Given the description of an element on the screen output the (x, y) to click on. 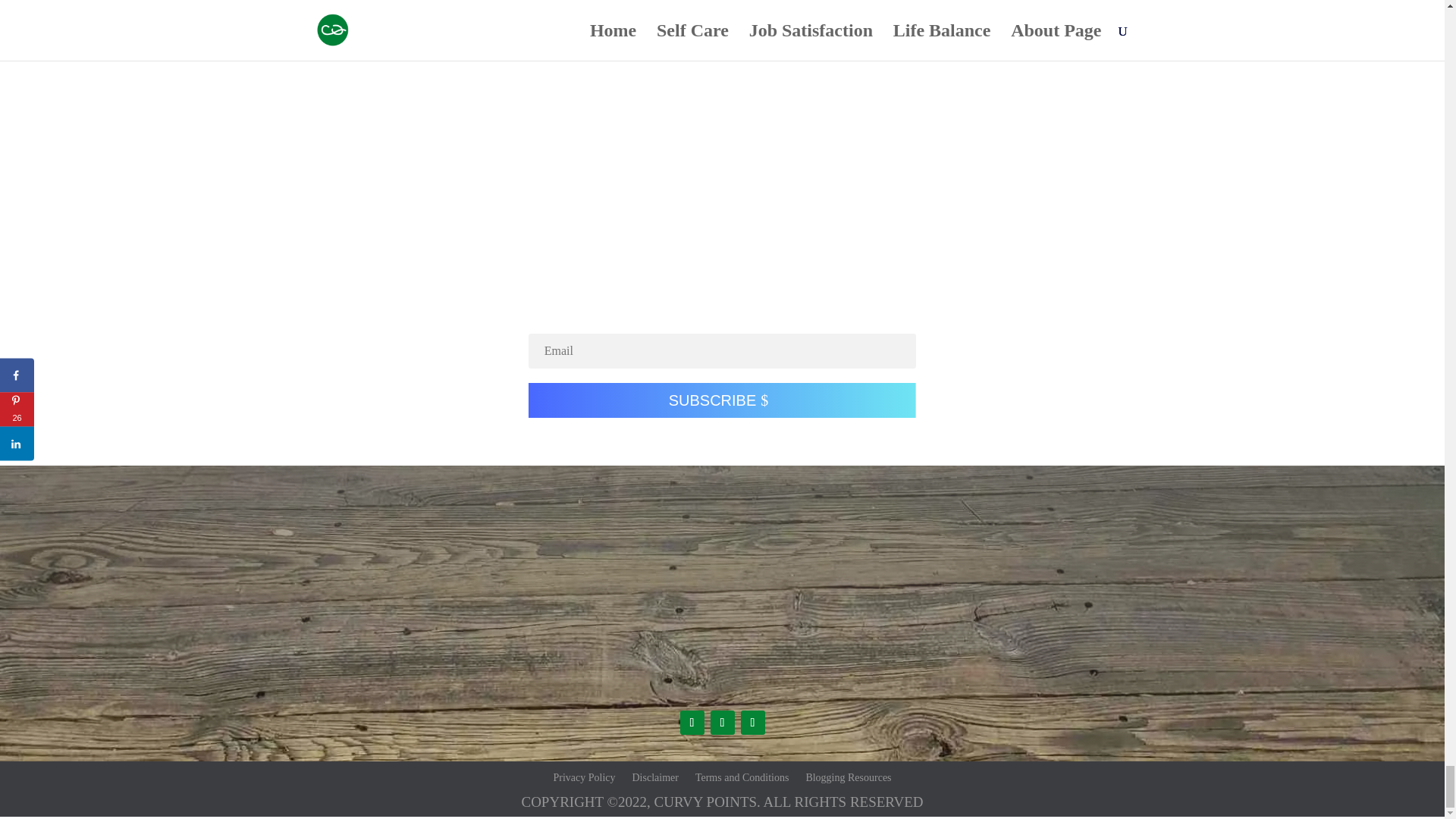
Blogging Resources (848, 774)
Follow on Facebook (691, 722)
Disclaimer (654, 774)
Privacy Policy (583, 774)
SUBSCRIBE (721, 400)
Follow on Instagram (721, 722)
Follow on Pinterest (751, 722)
Terms and Conditions (742, 774)
